Given the description of an element on the screen output the (x, y) to click on. 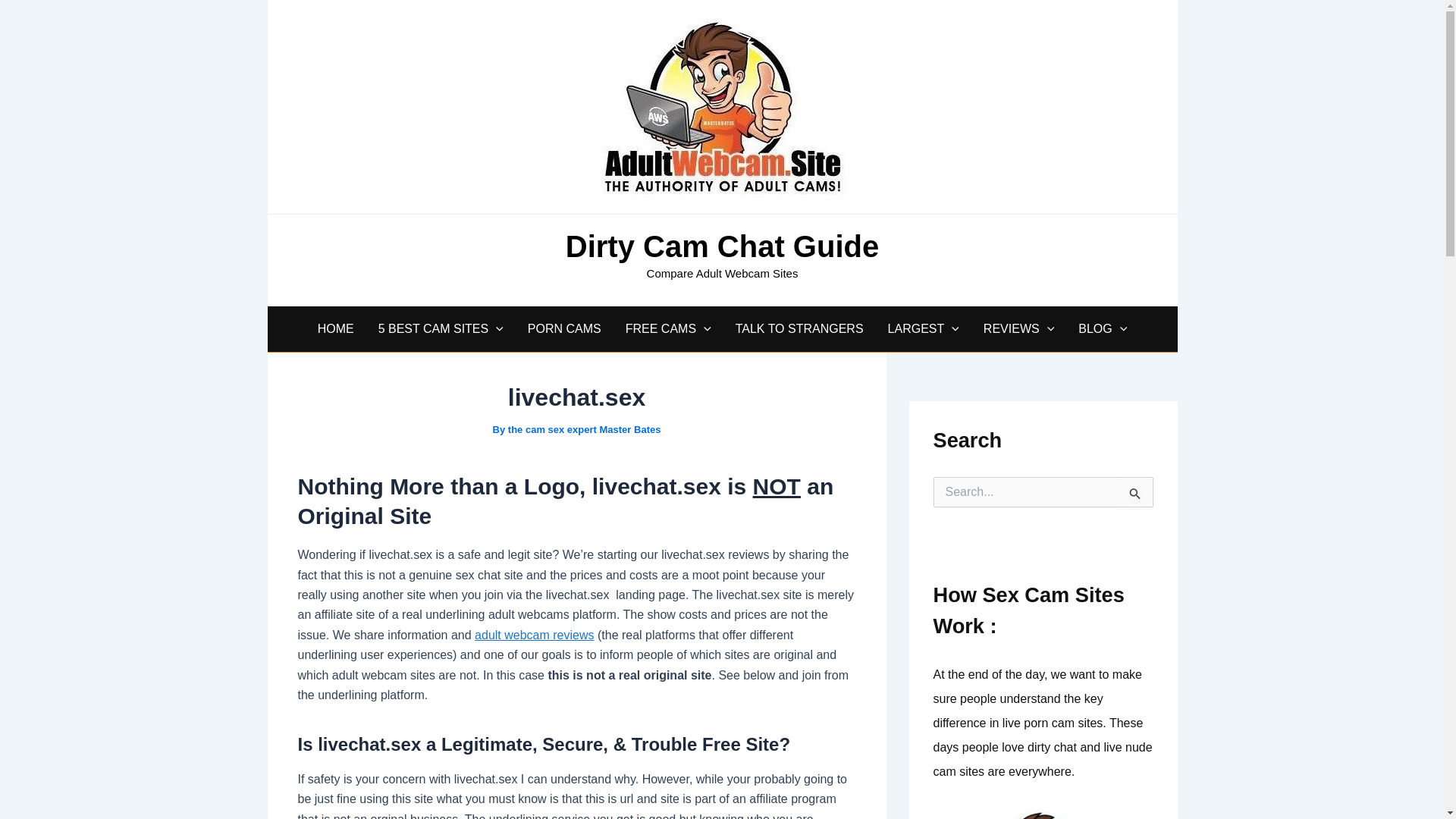
BLOG (1101, 329)
LARGEST (923, 329)
HOME (335, 329)
View all posts by the cam sex expert Master Bates (584, 429)
Search (1136, 492)
TALK TO STRANGERS (799, 329)
PORN CAMS (563, 329)
Dirty Cam Chat Guide (722, 252)
Search (1136, 492)
REVIEWS (1018, 329)
